Given the description of an element on the screen output the (x, y) to click on. 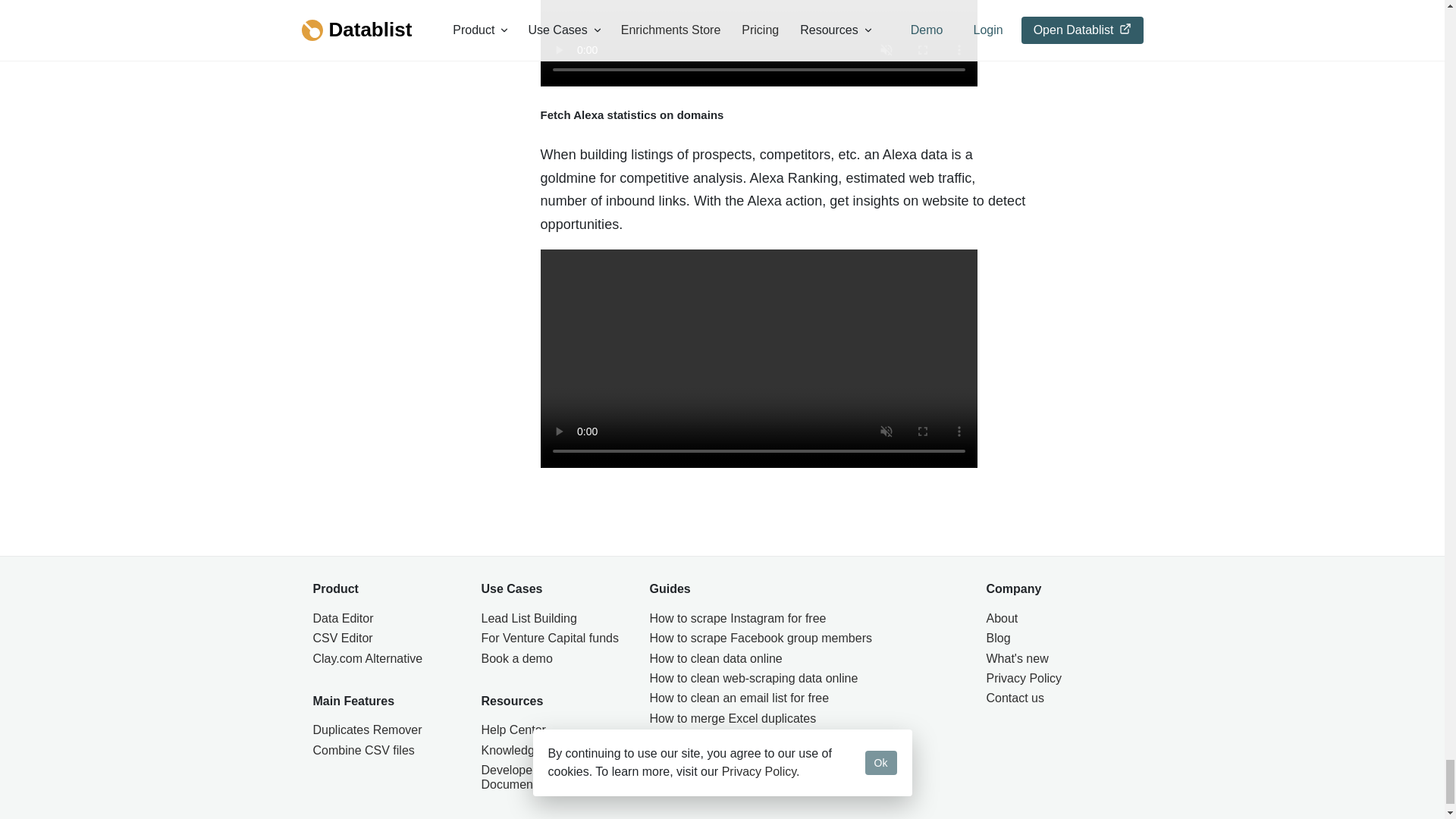
CSV Editor (385, 638)
Combine CSV files (385, 750)
Duplicates Remover (385, 730)
Data Editor (385, 618)
Lead List Building (554, 618)
Clay.com Alternative (385, 659)
